Given the description of an element on the screen output the (x, y) to click on. 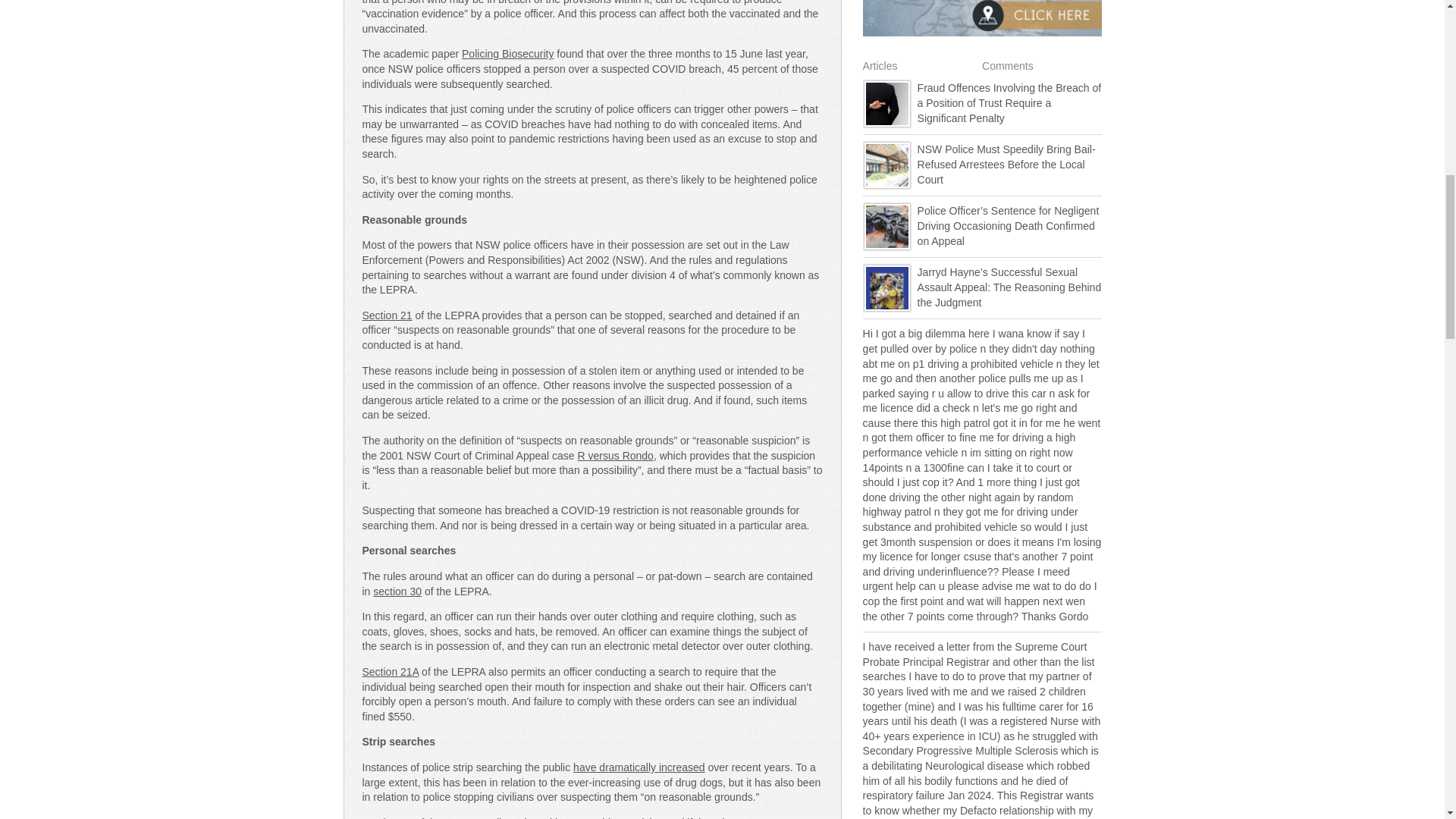
Tab 1 (880, 65)
Tab 2 (1007, 65)
